Given the description of an element on the screen output the (x, y) to click on. 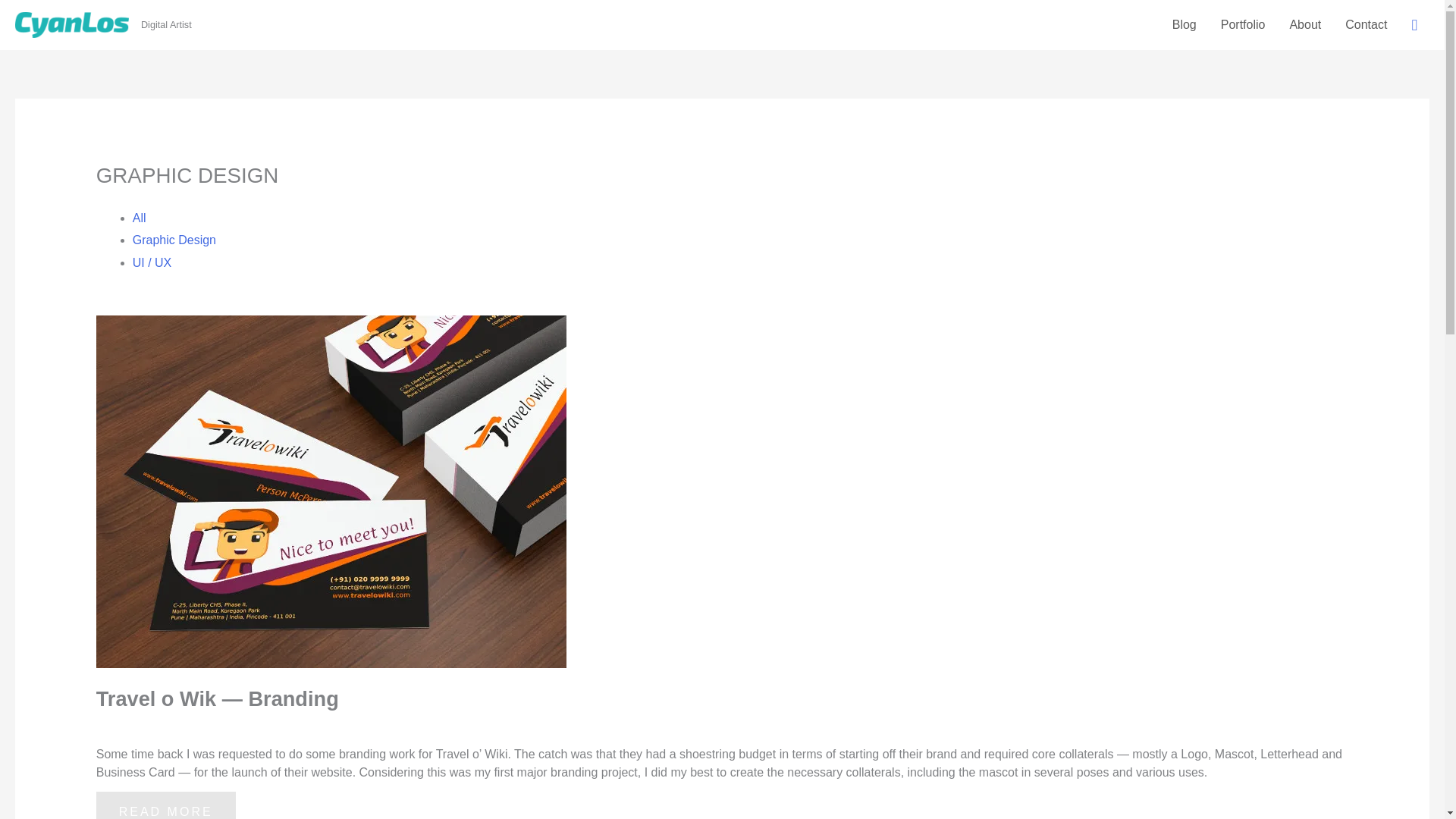
Blog (1184, 24)
READ MORE (165, 805)
All (139, 217)
Contact (1366, 24)
Portfolio (1243, 24)
Graphic Design (173, 239)
About (1304, 24)
